Given the description of an element on the screen output the (x, y) to click on. 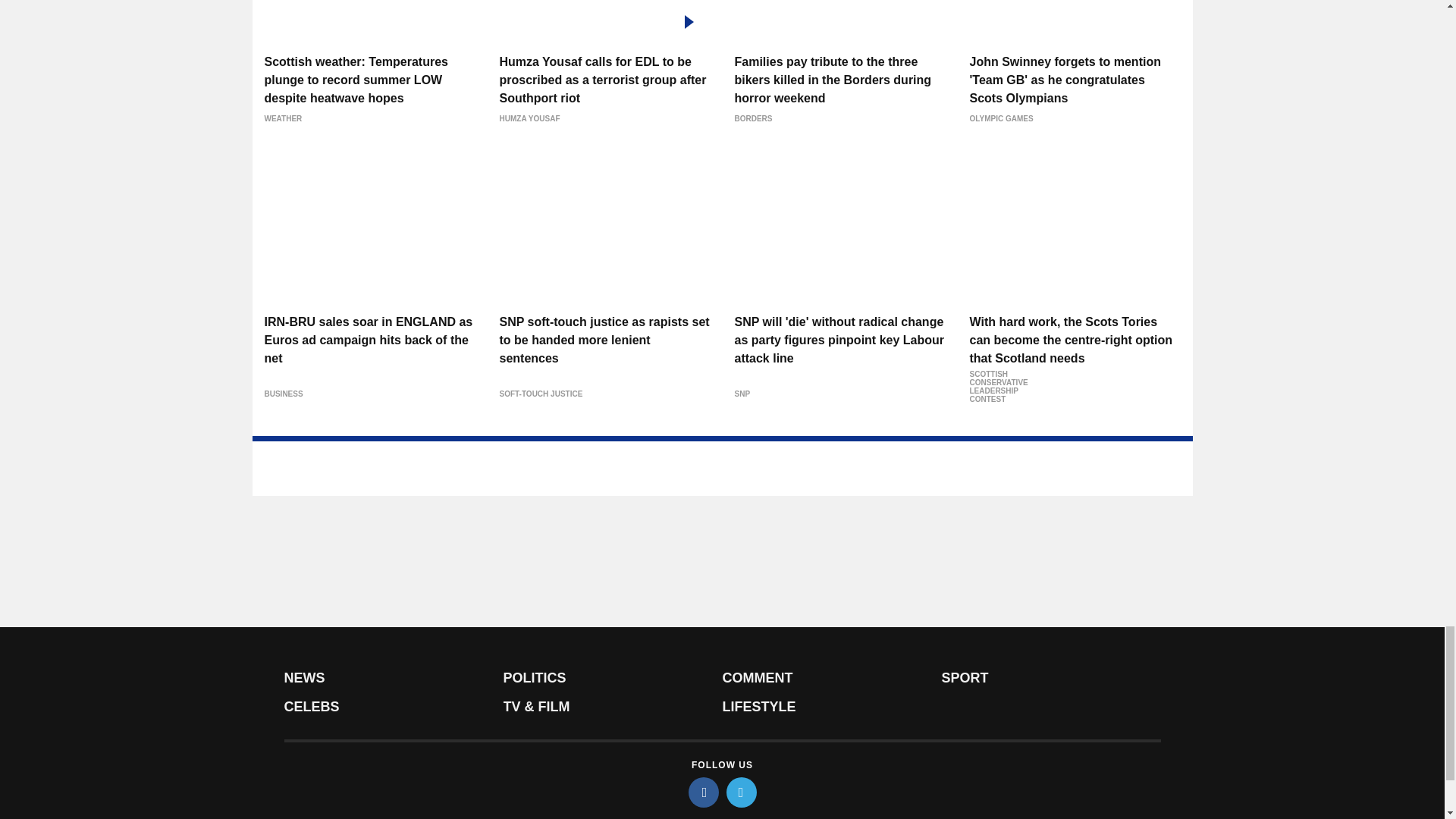
facebook (703, 792)
twitter (741, 792)
